Given the description of an element on the screen output the (x, y) to click on. 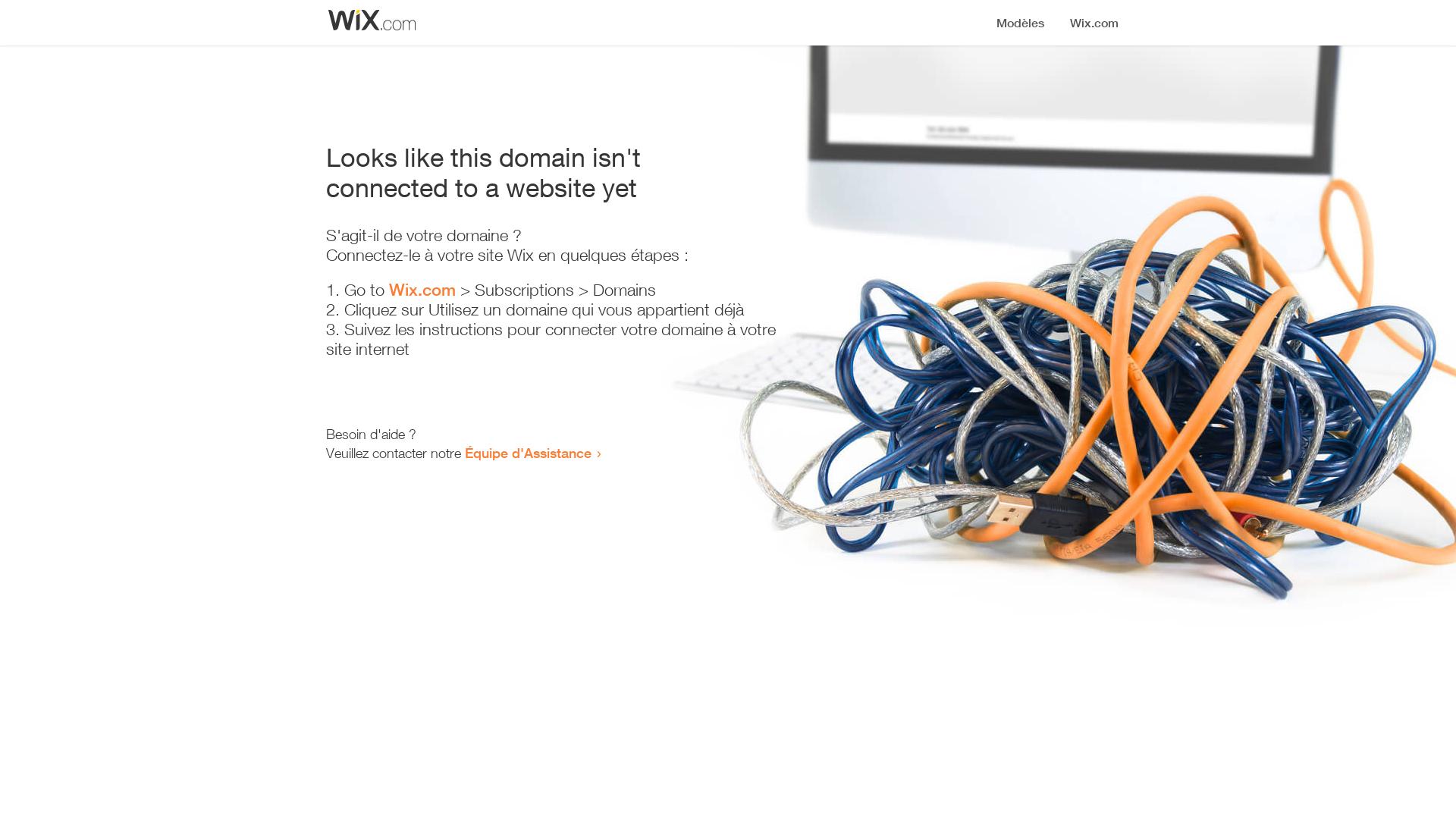
Wix.com Element type: text (422, 289)
